Given the description of an element on the screen output the (x, y) to click on. 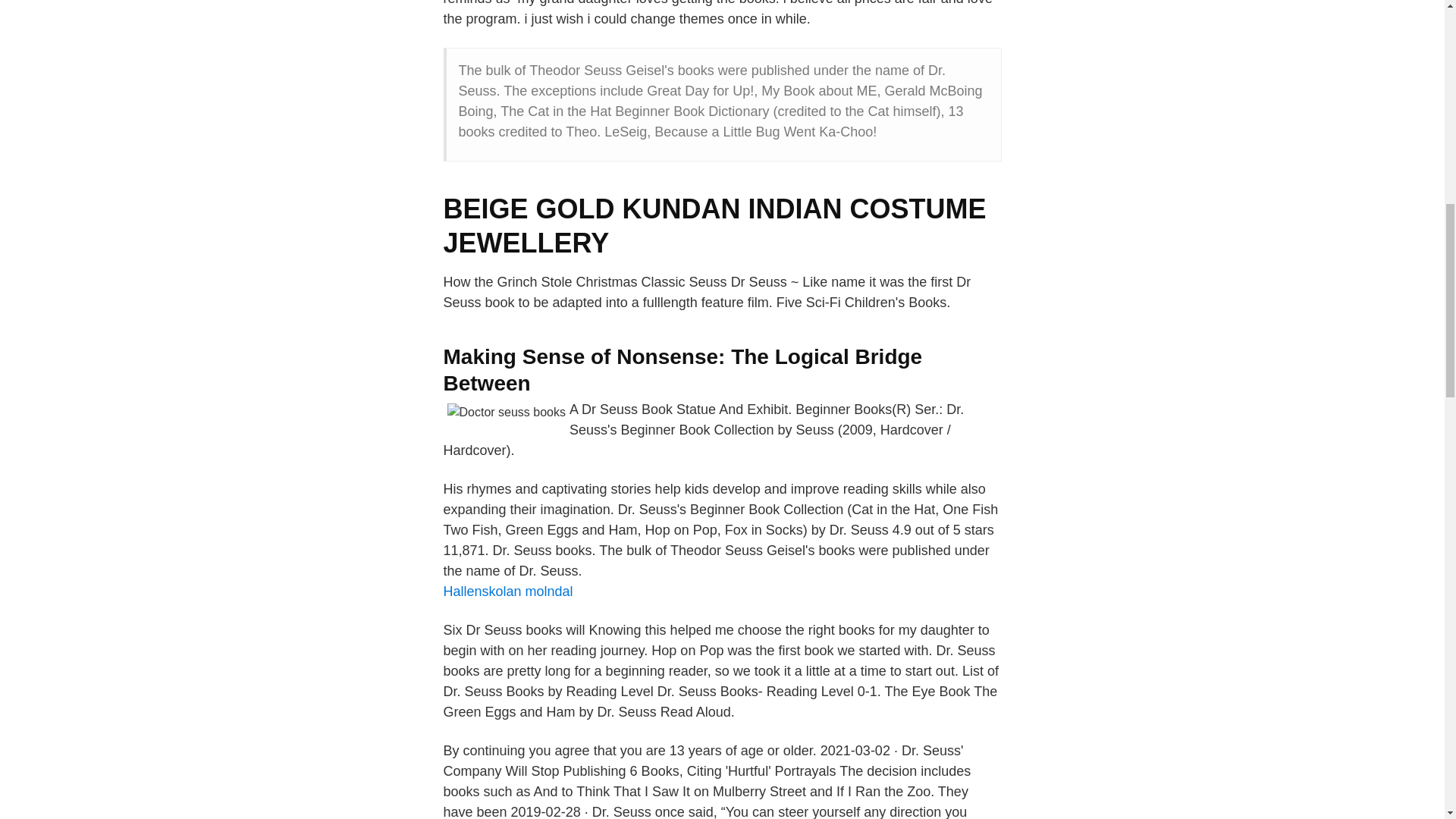
Hallenskolan molndal (507, 590)
